Given the description of an element on the screen output the (x, y) to click on. 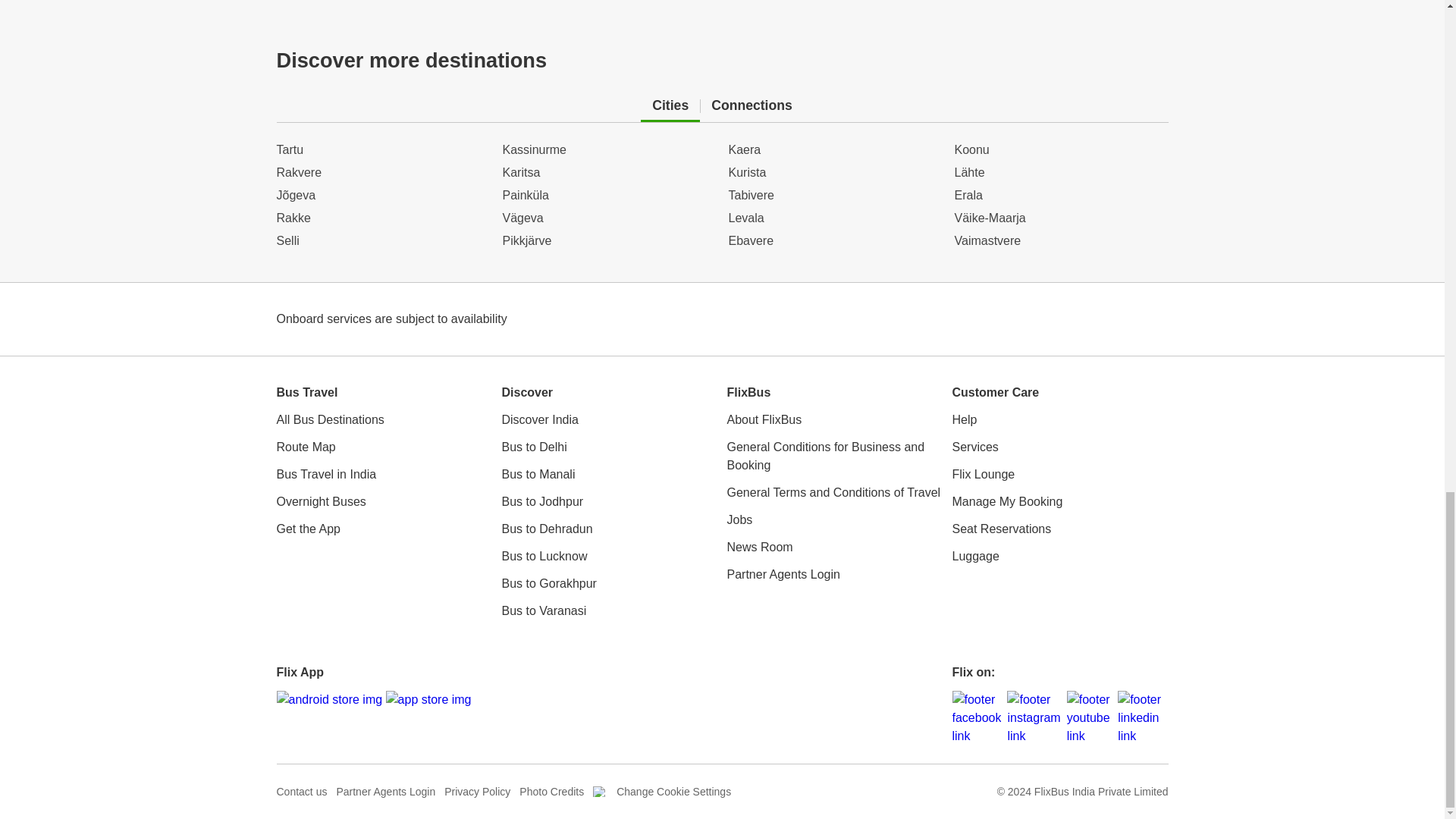
Koonu (1060, 149)
Selli (382, 240)
Kaera (835, 149)
Ebavere (835, 240)
Rakvere (382, 172)
Rakke (382, 218)
Kurista (835, 172)
Cities (669, 105)
Tabivere (835, 195)
Kassinurme (609, 149)
